Given the description of an element on the screen output the (x, y) to click on. 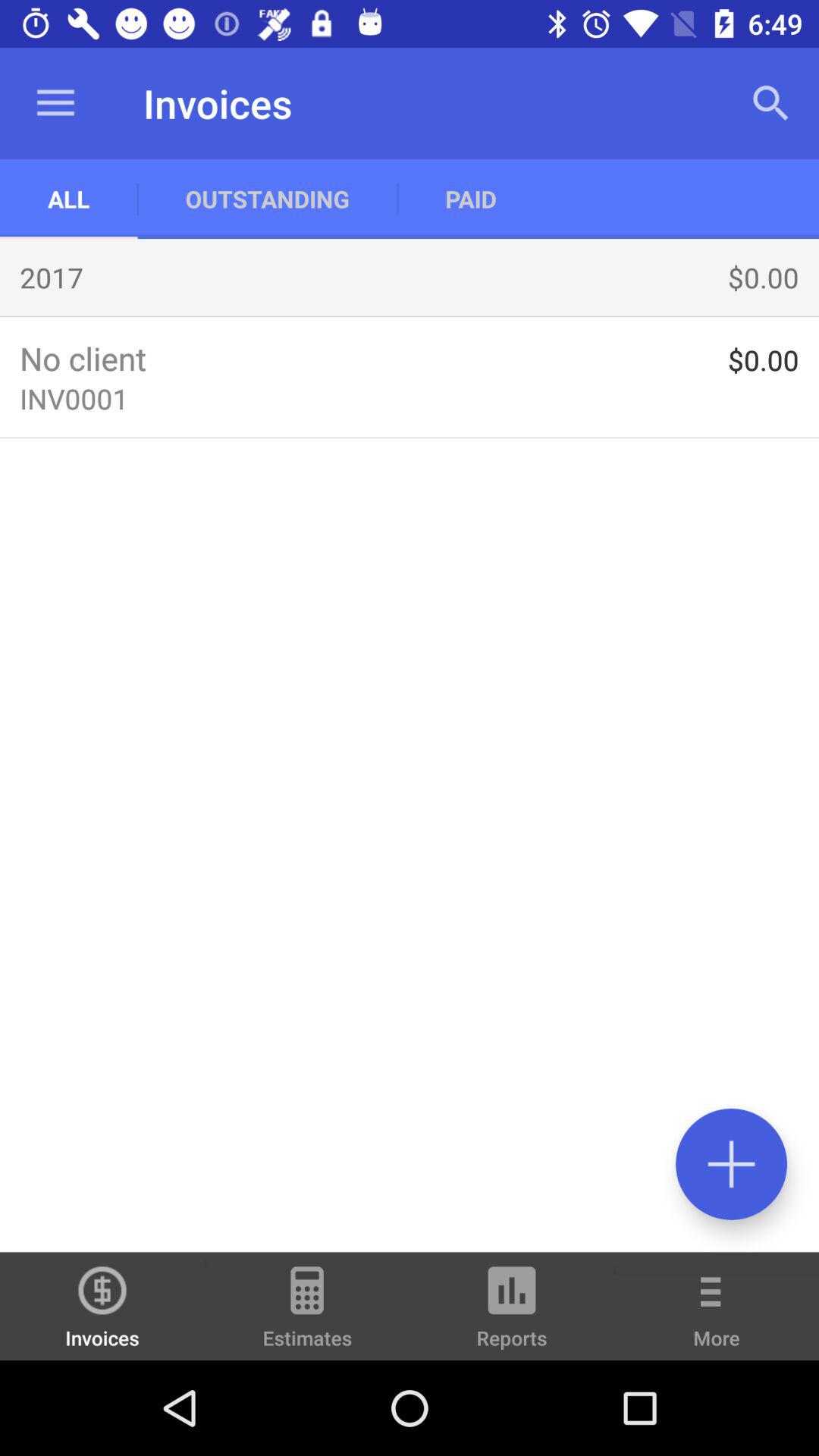
turn off the item next to the reports icon (716, 1317)
